Given the description of an element on the screen output the (x, y) to click on. 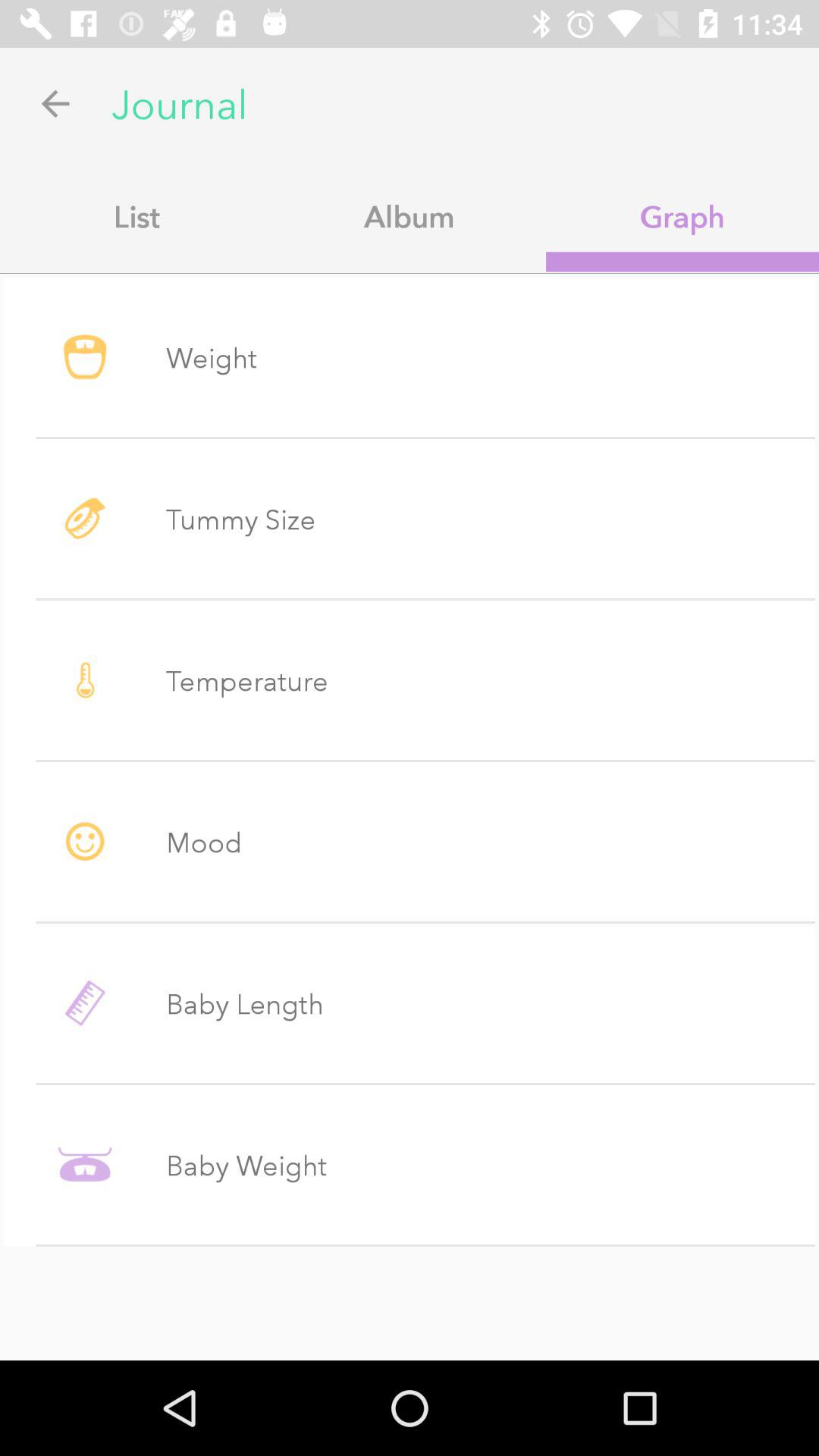
select the item next to journal (55, 103)
